Given the description of an element on the screen output the (x, y) to click on. 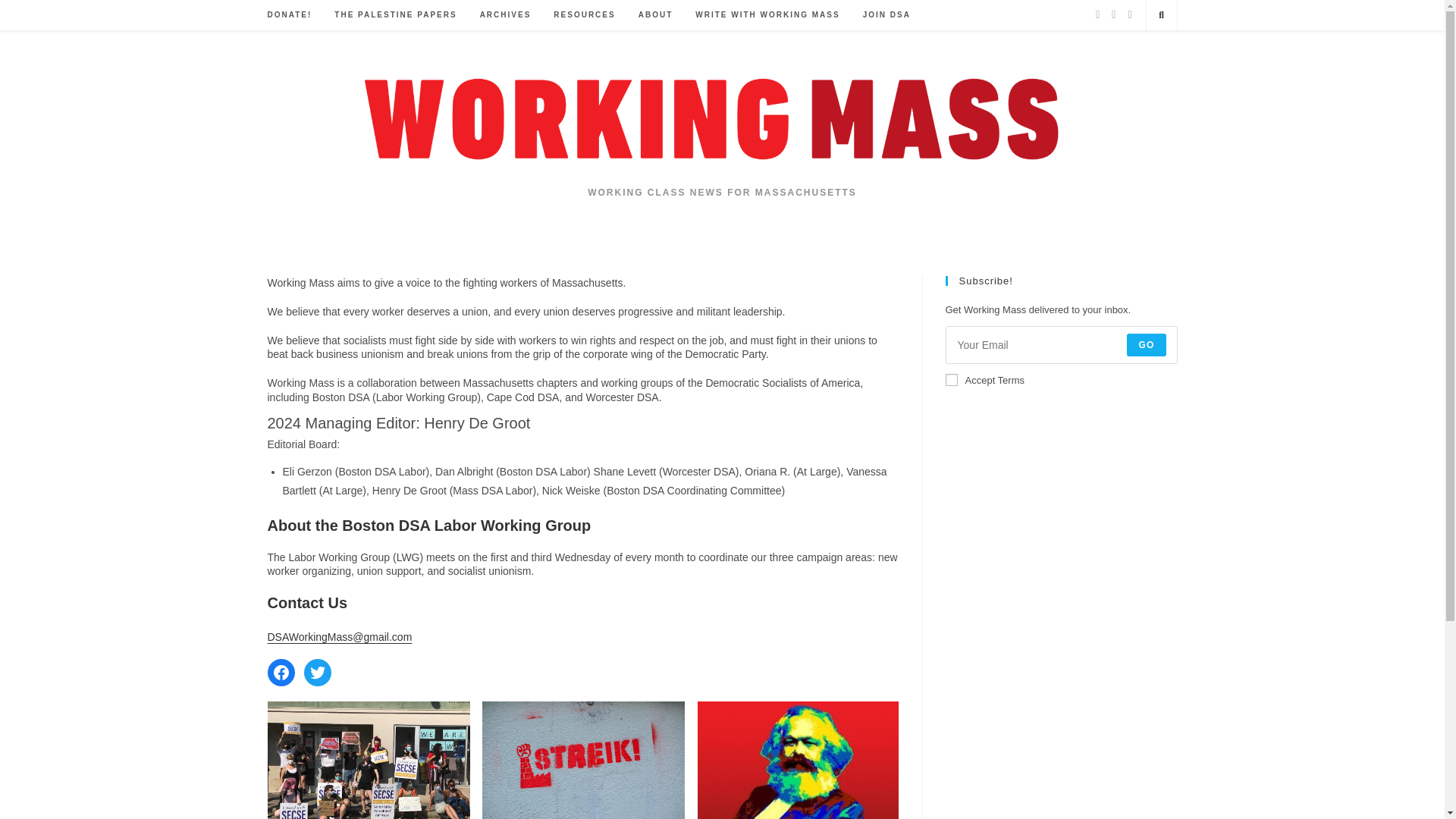
1 (950, 379)
ABOUT (655, 15)
THE PALESTINE PAPERS (395, 15)
GO (1146, 344)
DONATE! (289, 15)
RESOURCES (583, 15)
JOIN DSA (886, 15)
Facebook (280, 672)
ARCHIVES (505, 15)
Twitter (316, 672)
WRITE WITH WORKING MASS (767, 15)
